Given the description of an element on the screen output the (x, y) to click on. 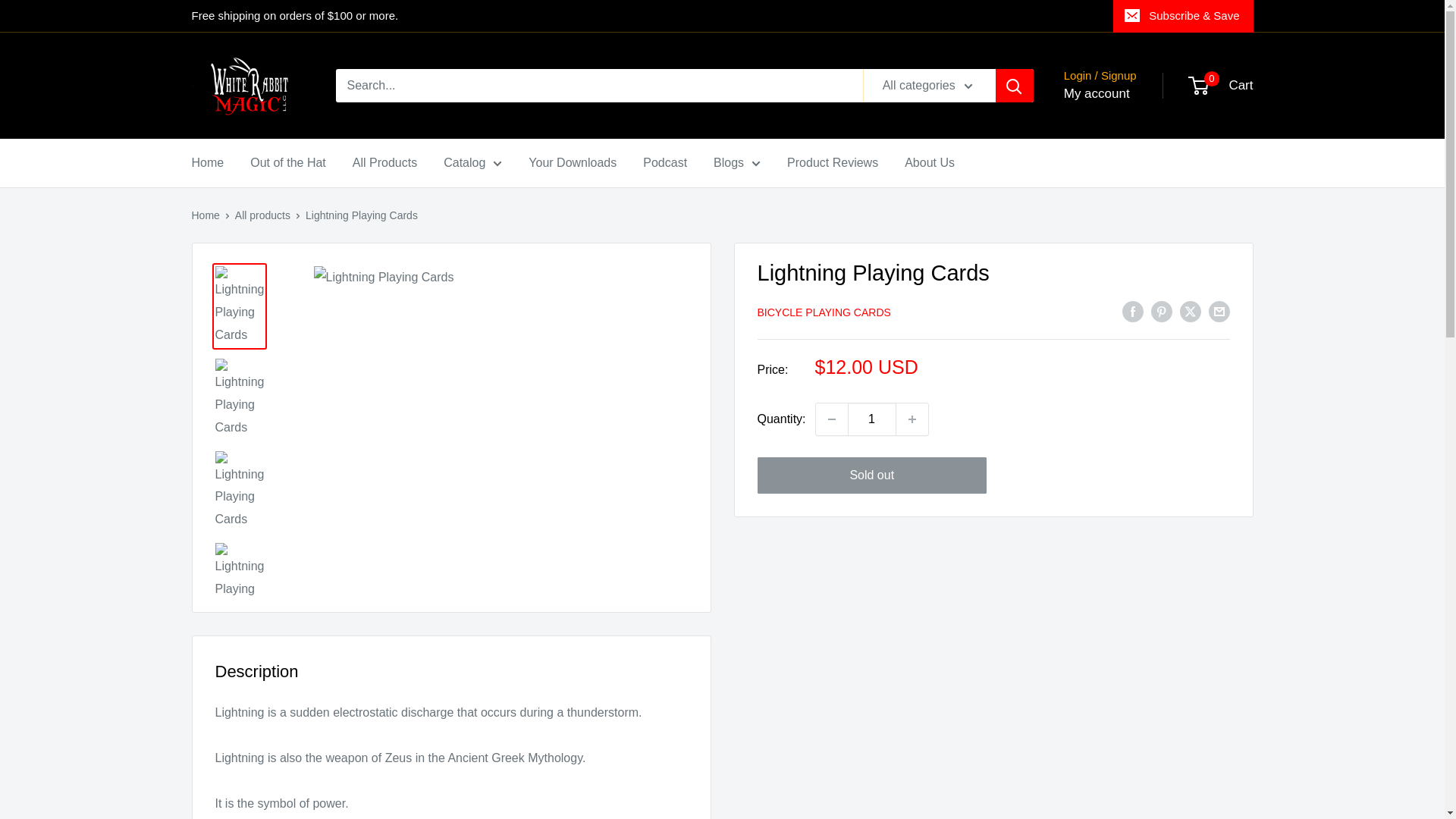
Decrease quantity by 1 (831, 418)
1 (871, 418)
Increase quantity by 1 (912, 418)
